Given the description of an element on the screen output the (x, y) to click on. 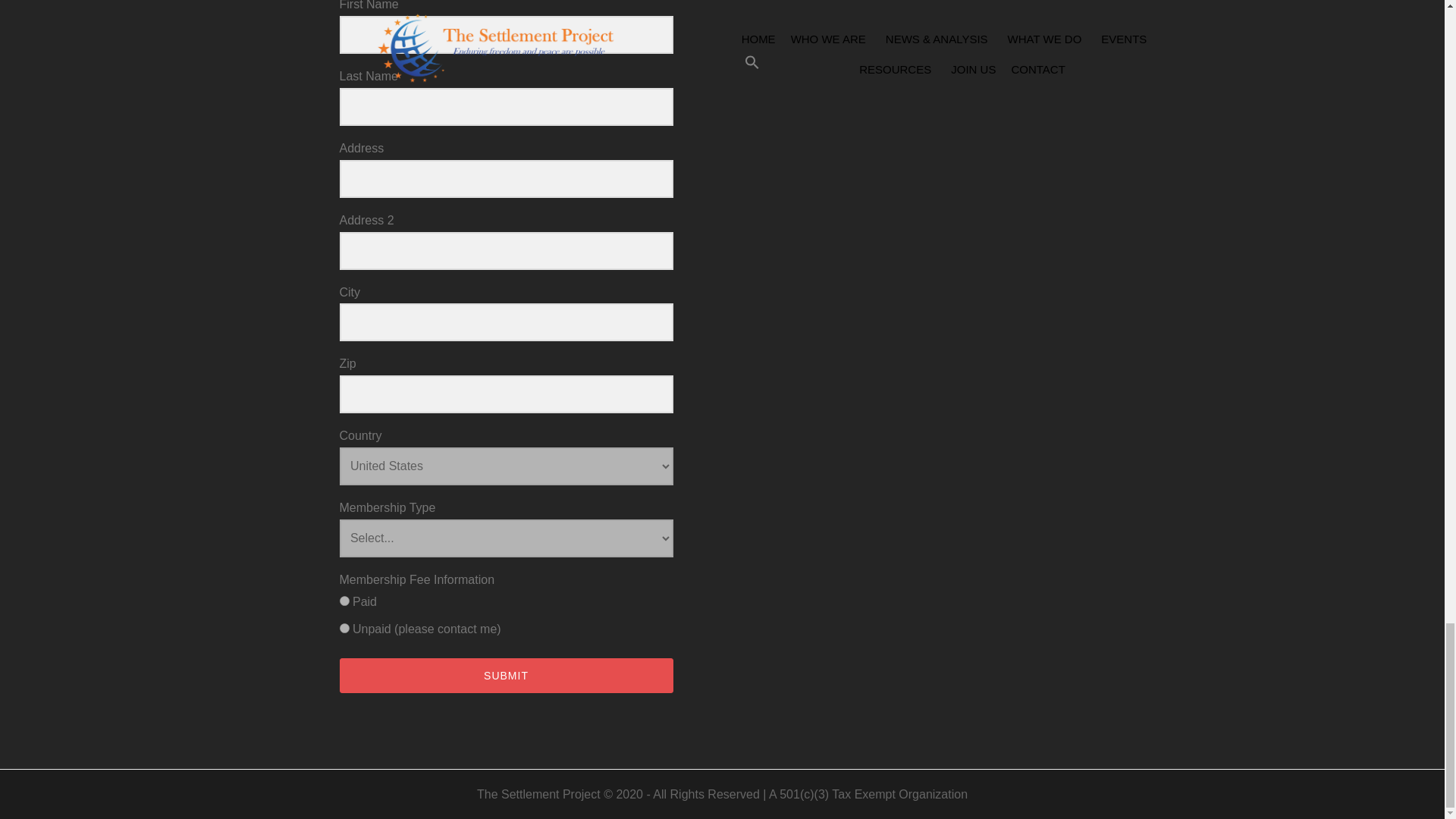
5 digit zip code, numbers only (505, 394)
Paid (344, 600)
